Given the description of an element on the screen output the (x, y) to click on. 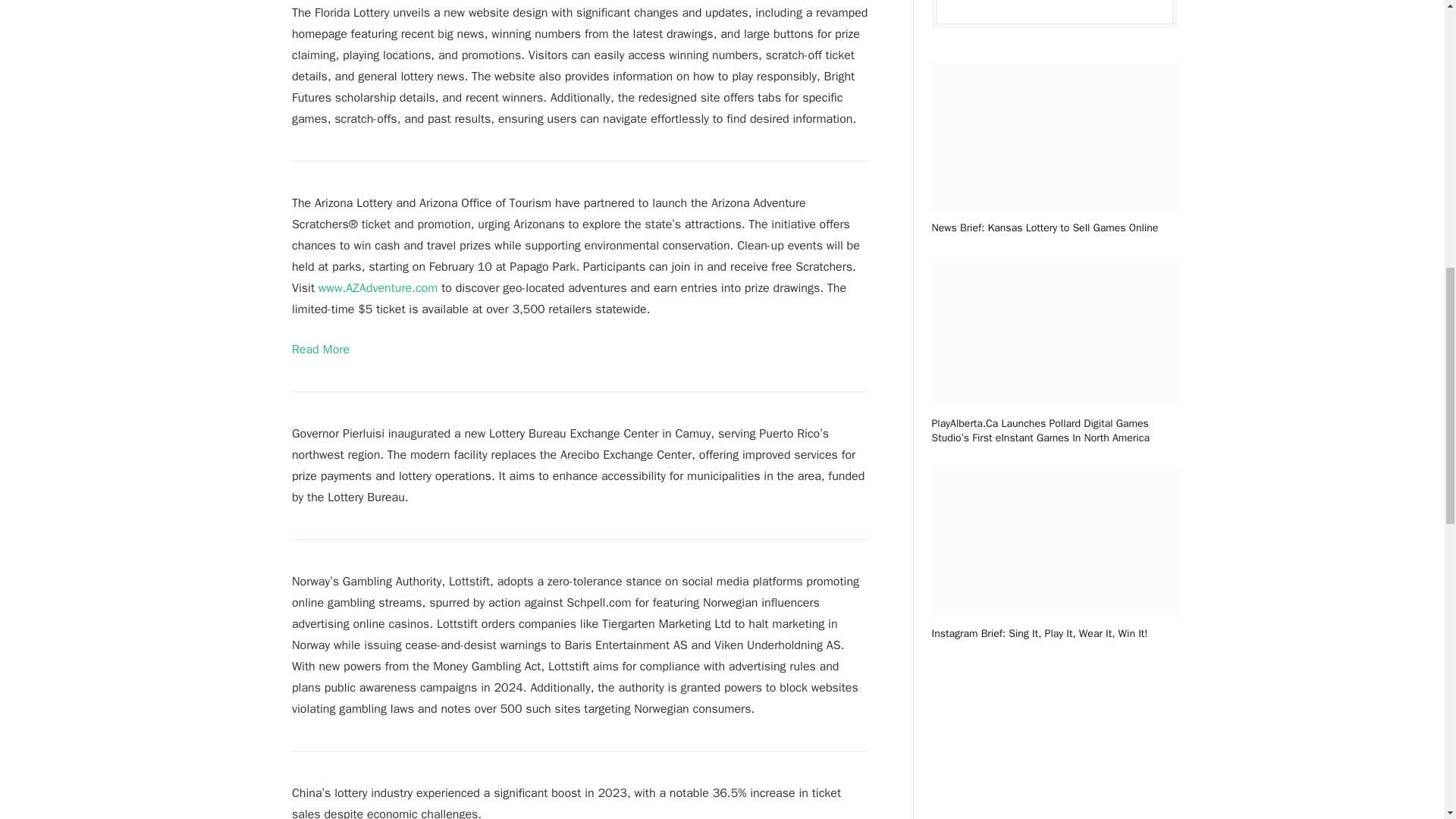
News Brief: Kansas Lottery to Sell Games Online (1053, 227)
www.AZAdventure.com (378, 287)
Read More (320, 349)
Instagram Brief: Sing It, Play It, Wear It, Win It! (1053, 633)
